Given the description of an element on the screen output the (x, y) to click on. 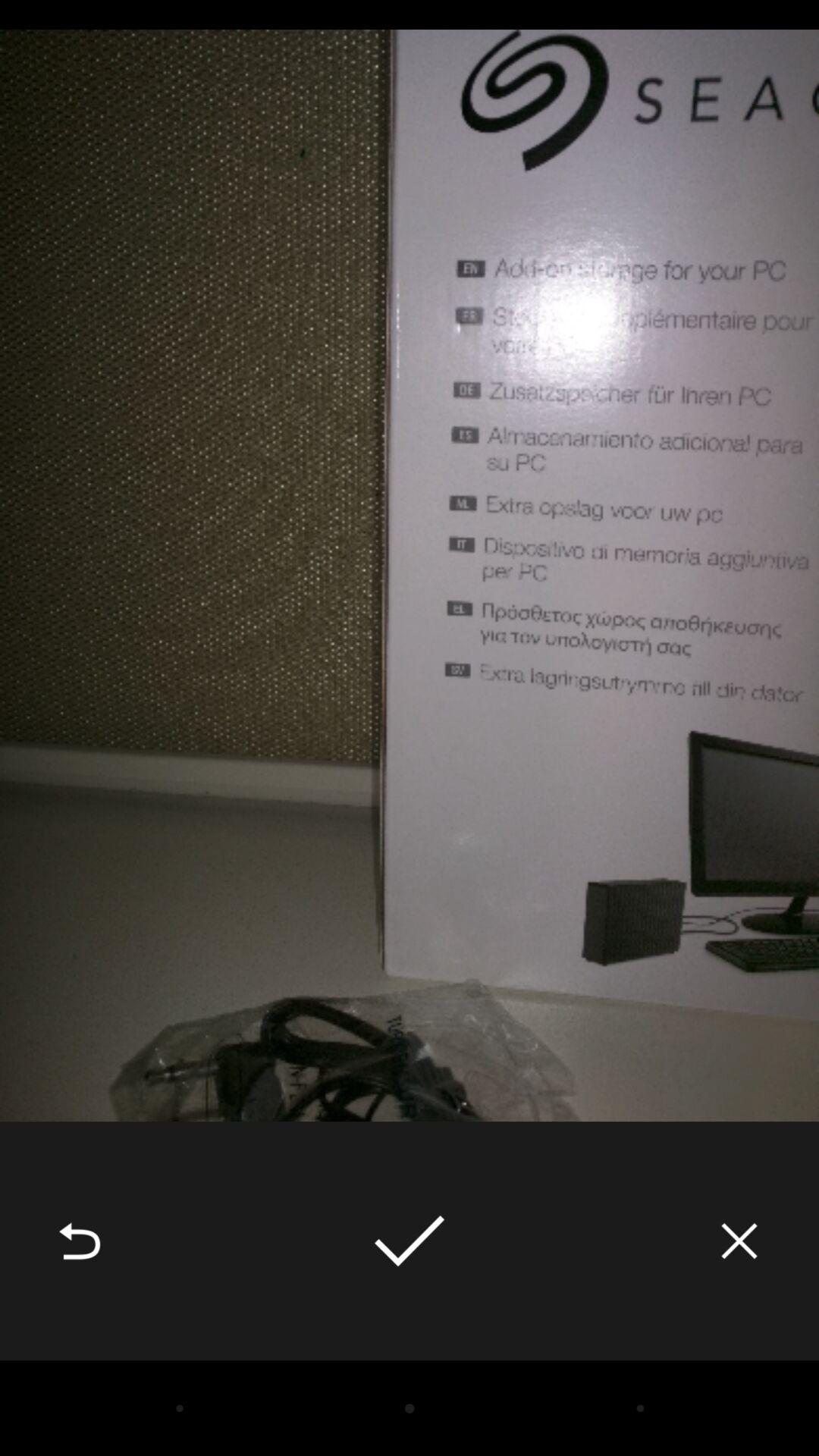
turn off icon at the bottom right corner (739, 1240)
